Given the description of an element on the screen output the (x, y) to click on. 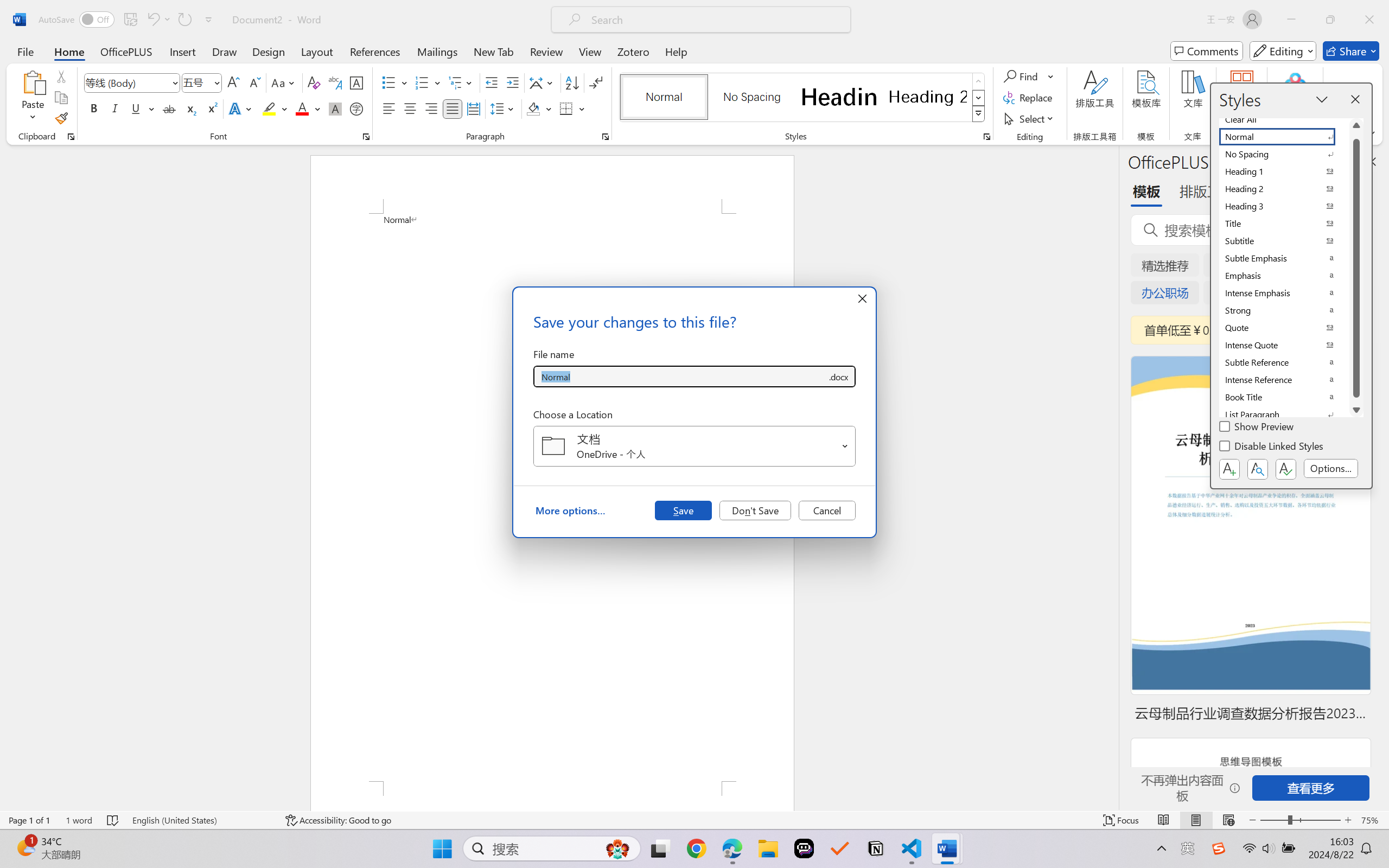
Text Effects and Typography (241, 108)
Comments (1206, 50)
Office Clipboard... (70, 136)
Numbering (421, 82)
Ribbon Display Options (1370, 132)
Strong (1283, 310)
Justify (452, 108)
Subtitle (1283, 240)
Shading (539, 108)
Zoom In (1348, 819)
